Given the description of an element on the screen output the (x, y) to click on. 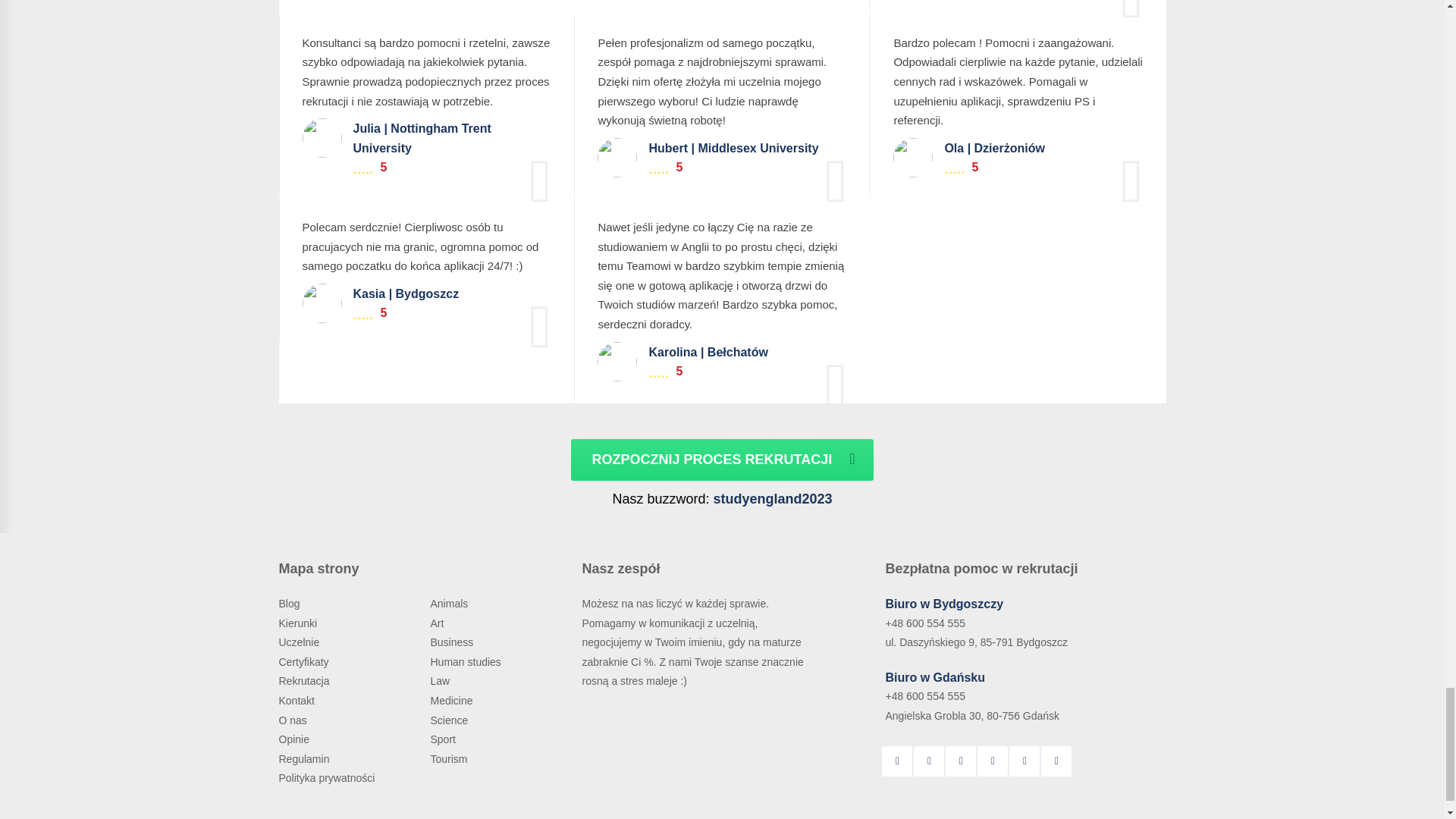
Kierunki (299, 623)
ROZPOCZNIJ PROCES REKRUTACJI (721, 459)
Blog (290, 603)
Certyfikaty (305, 662)
Rekrutacja (306, 680)
Kontakt (298, 700)
Uczelnie (300, 642)
